Given the description of an element on the screen output the (x, y) to click on. 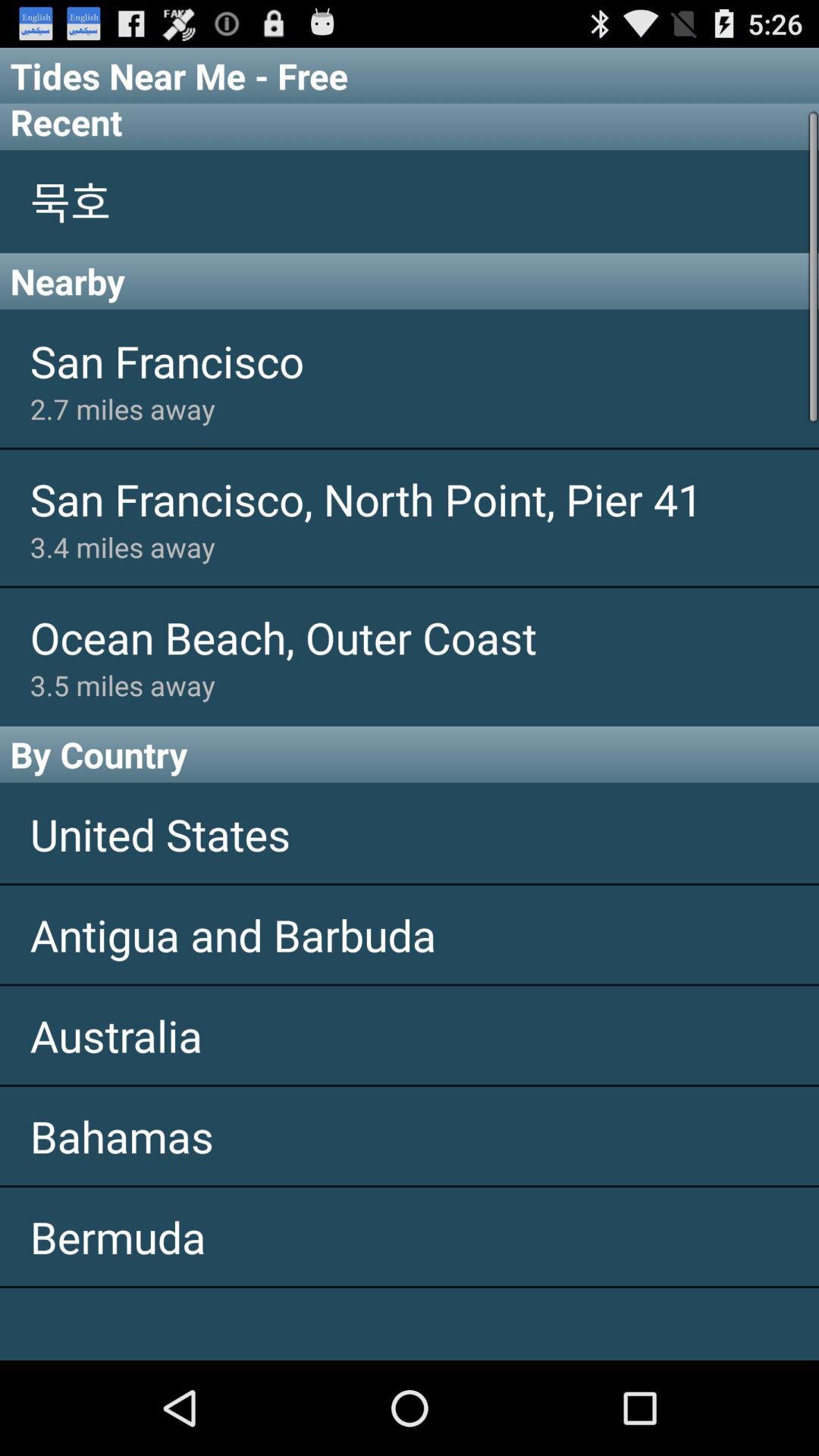
flip until antigua and barbuda (409, 934)
